Given the description of an element on the screen output the (x, y) to click on. 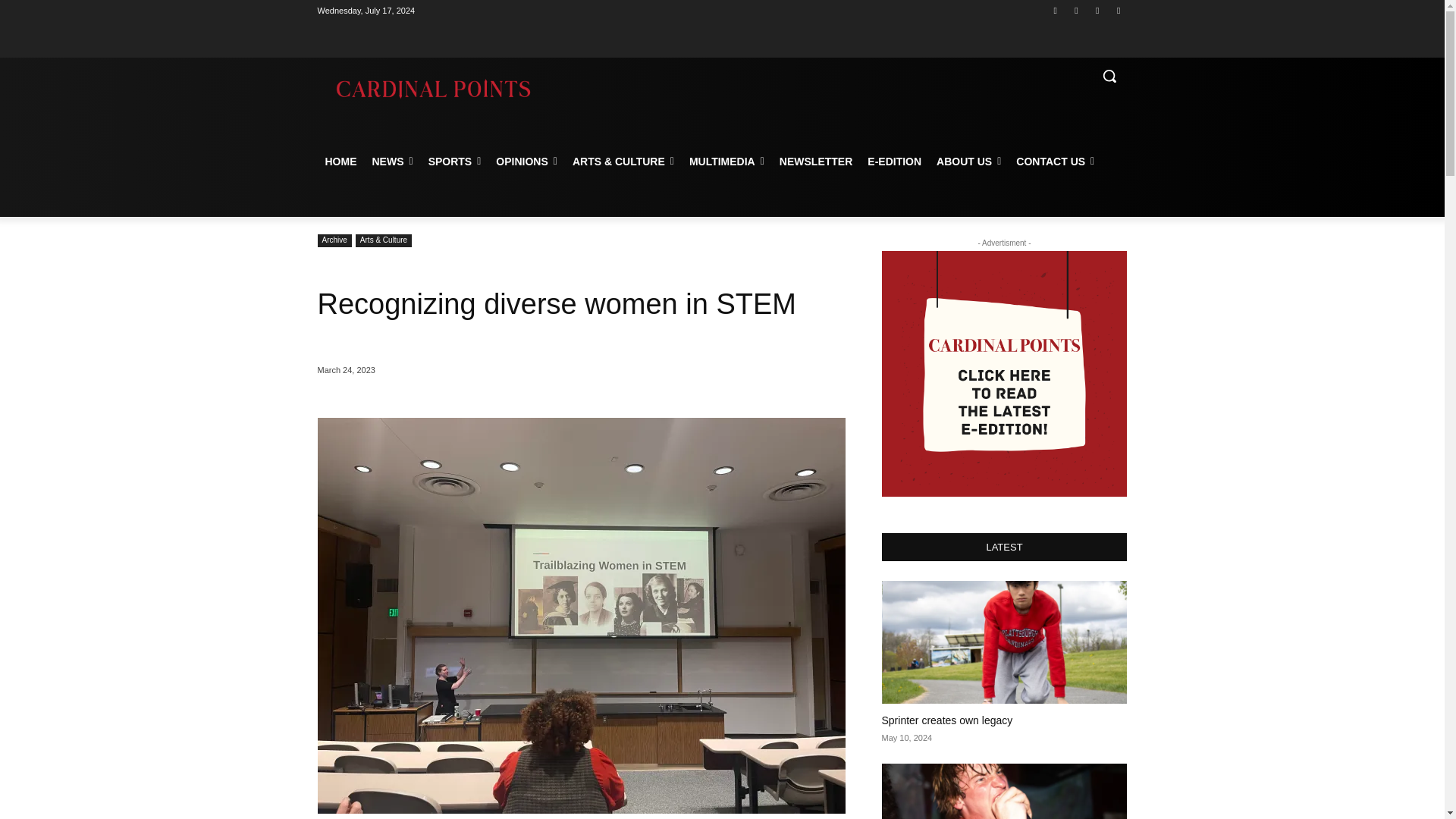
SPORTS (454, 161)
HOME (340, 161)
Twitter (1097, 9)
Facebook (1055, 9)
NEWS (392, 161)
Youtube (1117, 9)
Instagram (1075, 9)
